Given the description of an element on the screen output the (x, y) to click on. 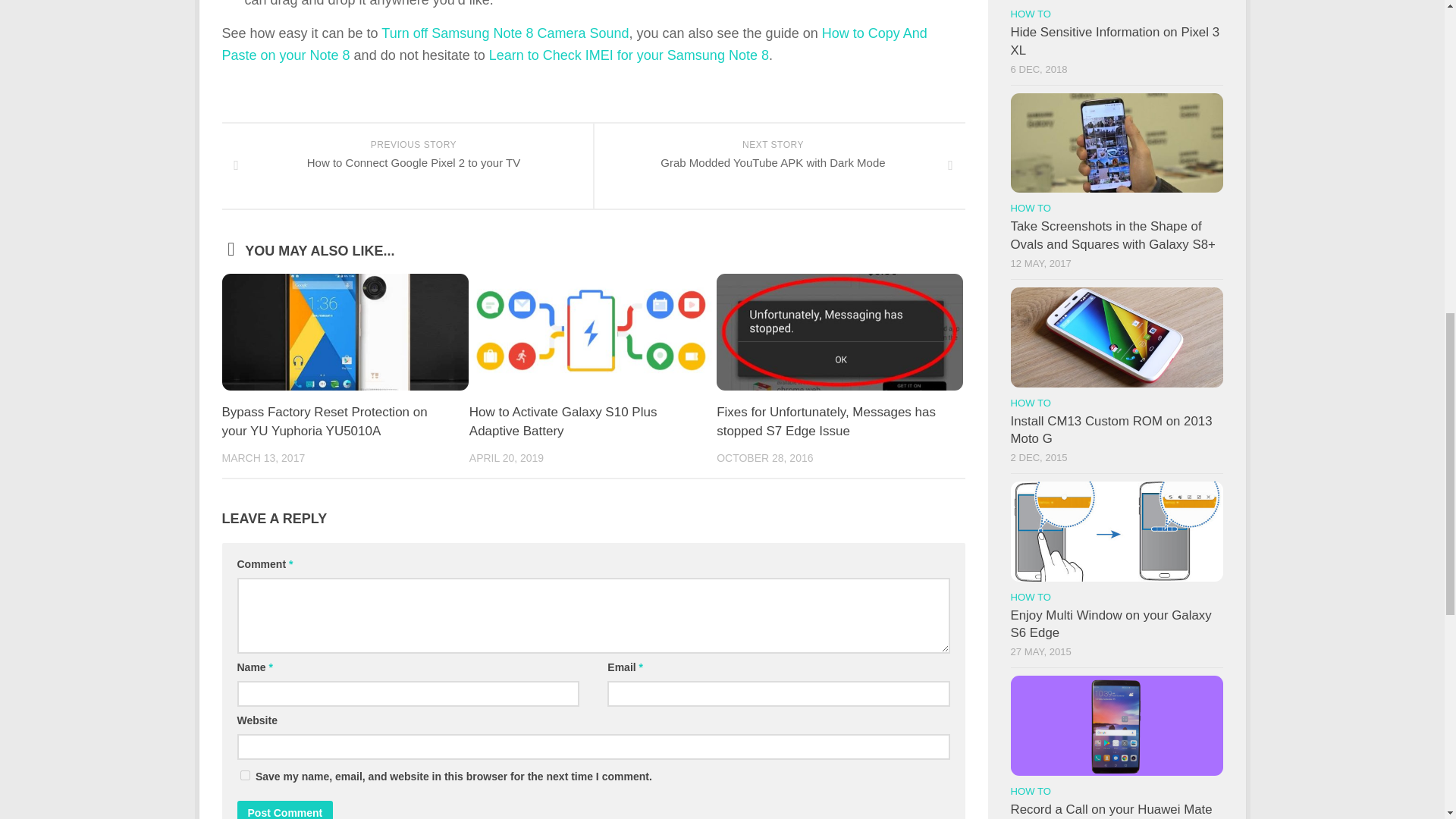
How to Copy And Paste on your Note 8 (573, 44)
Post Comment (284, 809)
Learn to Check IMEI for your Samsung Note 8 (628, 55)
Bypass Factory Reset Protection on your YU Yuphoria YU5010A (323, 421)
How to Activate Galaxy S10 Plus Adaptive Battery (406, 166)
Fixes for Unfortunately, Messages has stopped S7 Edge Issue (563, 421)
Post Comment (826, 421)
Turn off Samsung Note 8 Camera Sound (777, 166)
yes (284, 809)
